Given the description of an element on the screen output the (x, y) to click on. 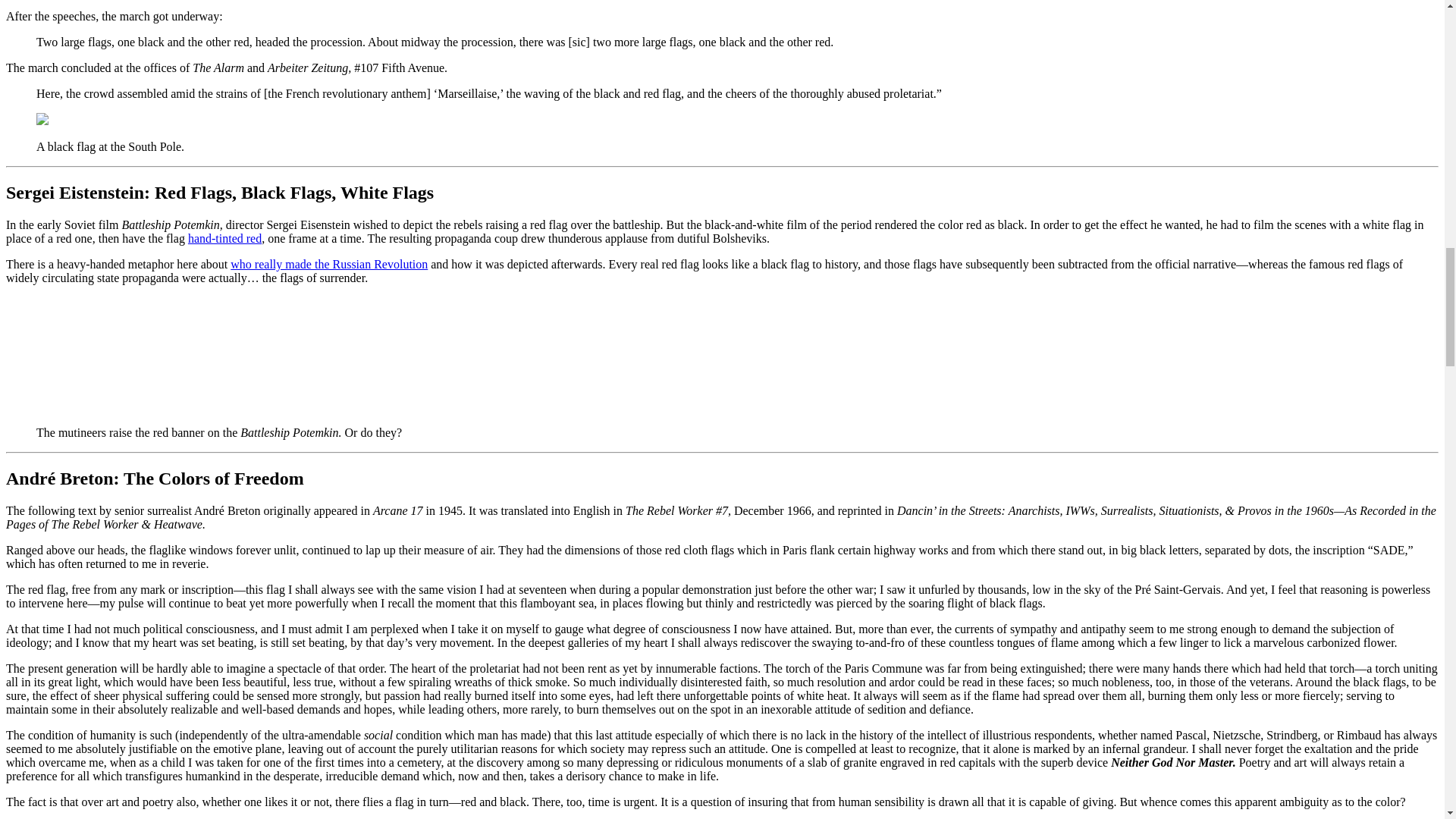
who really made the Russian Revolution (329, 264)
hand-tinted red (224, 237)
